Given the description of an element on the screen output the (x, y) to click on. 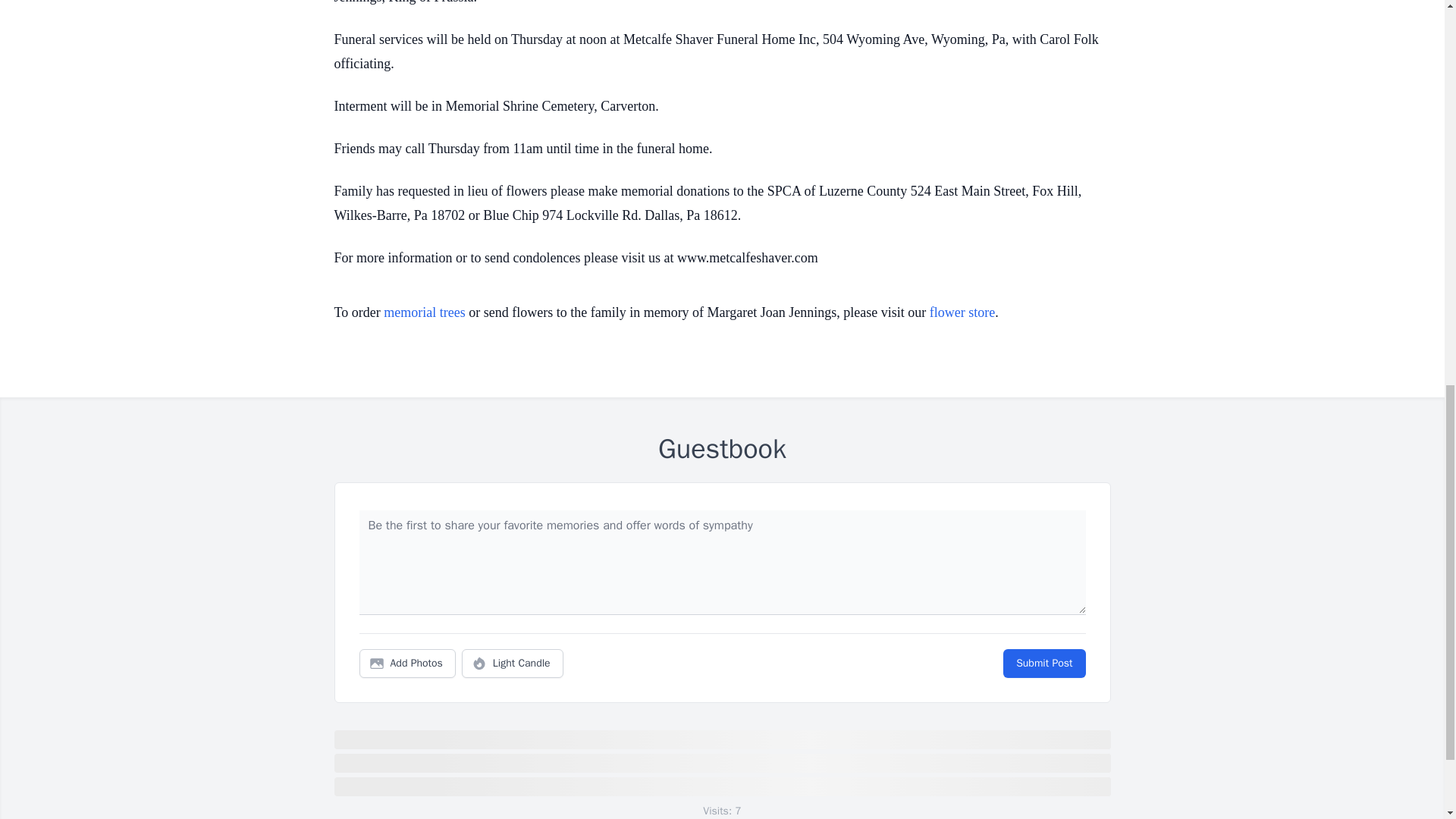
Submit Post (1043, 663)
Light Candle (512, 663)
flower store (962, 312)
memorial trees (424, 312)
Add Photos (407, 663)
